Given the description of an element on the screen output the (x, y) to click on. 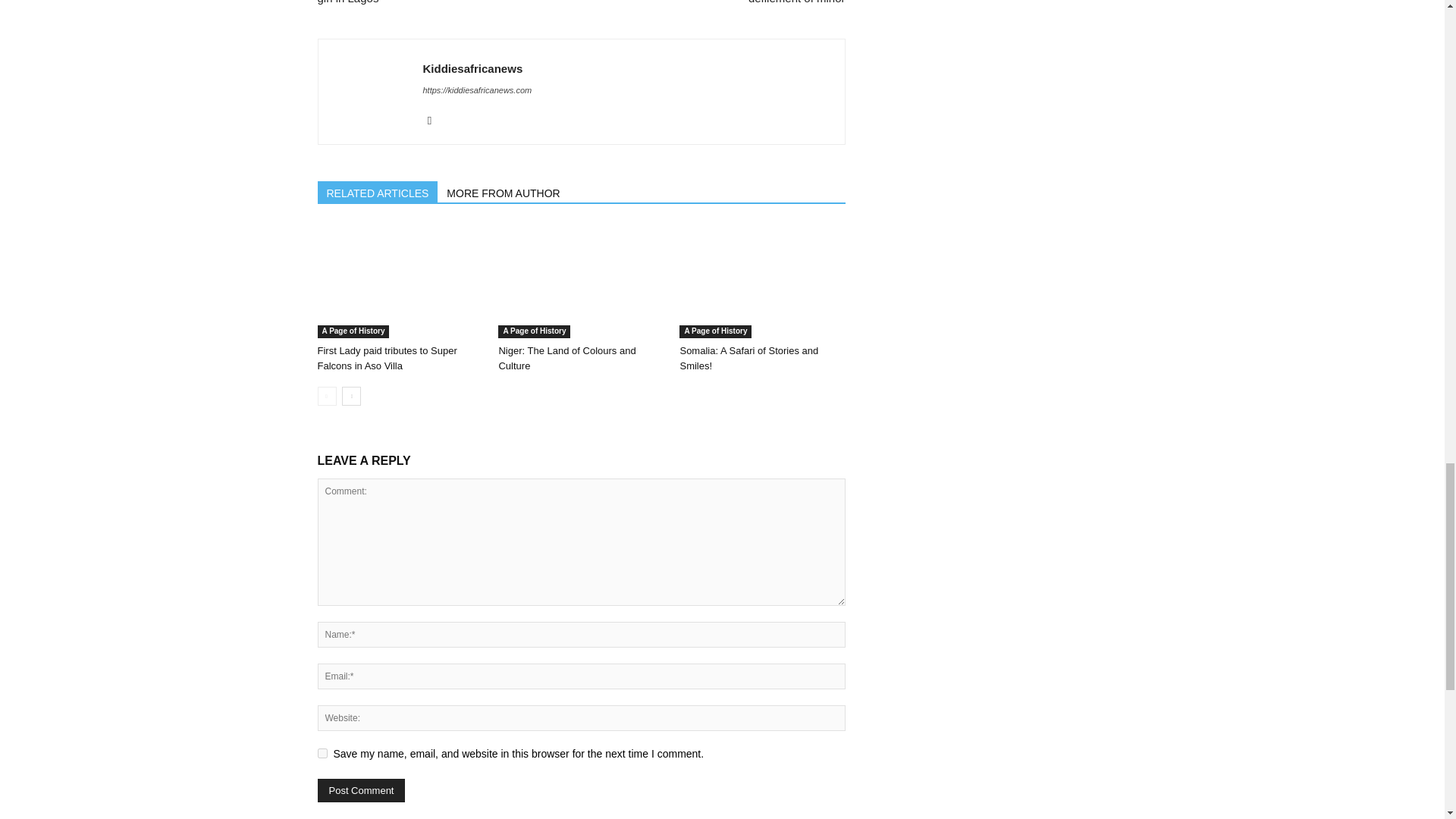
Facebook (435, 120)
Post Comment (360, 790)
yes (321, 753)
First Lady paid tributes to Super Falcons in Aso Villa (387, 357)
First Lady paid tributes to Super Falcons in Aso Villa (399, 281)
Somalia: A Safari of Stories and Smiles! (761, 281)
Niger: The Land of Colours and Culture (580, 281)
Niger: The Land of Colours and Culture (565, 357)
